Given the description of an element on the screen output the (x, y) to click on. 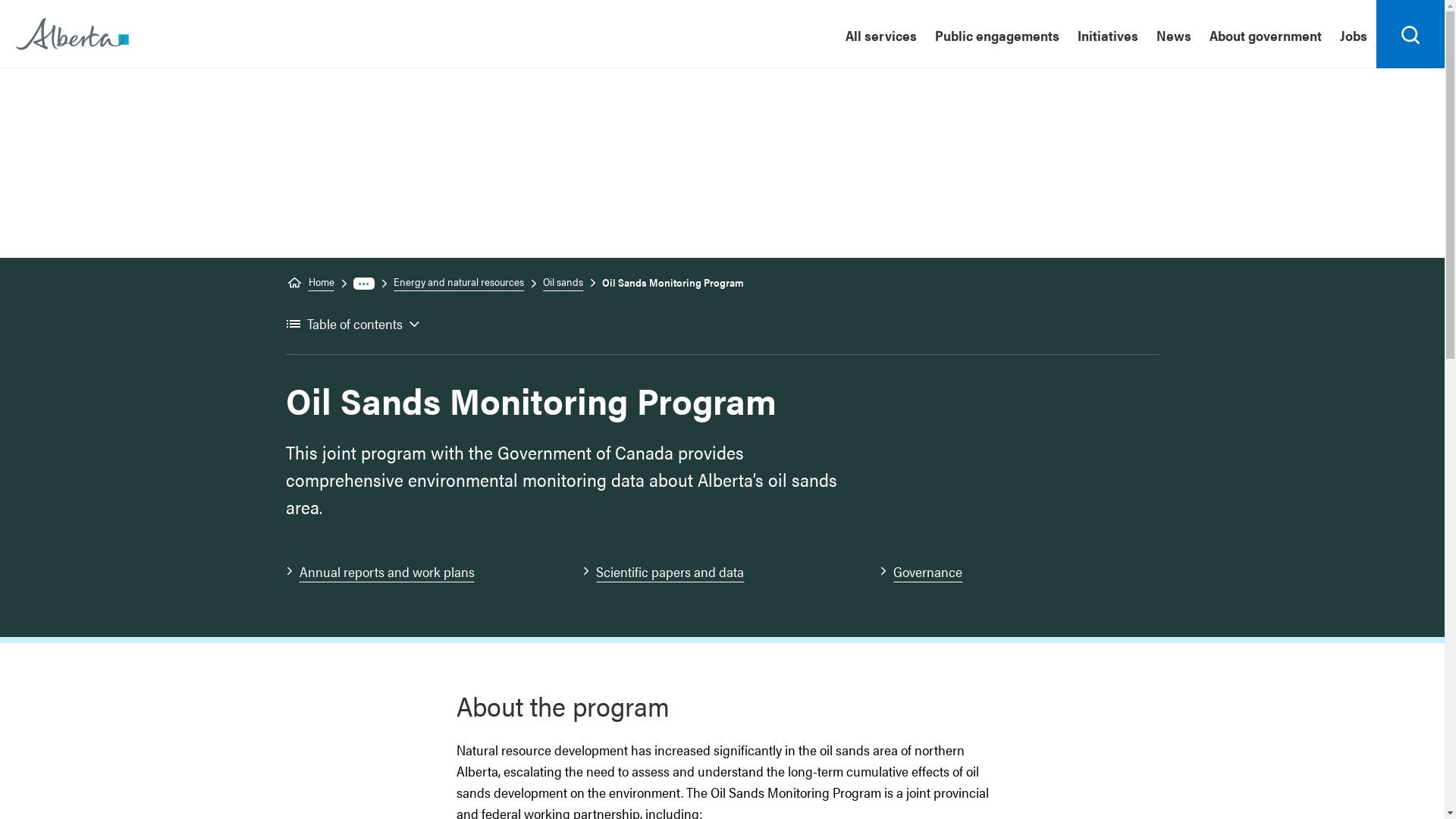
Home Element type: hover (72, 33)
Jobs Element type: text (1353, 34)
Energy and natural resources Element type: text (451, 281)
Initiatives Element type: text (1107, 34)
Table of contents Element type: text (352, 324)
Scientific papers and data Element type: text (712, 571)
About government Element type: text (1265, 34)
Oil sands Element type: text (556, 281)
Annual reports and work plans Element type: text (415, 571)
News Element type: text (1173, 34)
Governance Element type: text (1009, 571)
Search Element type: text (1410, 34)
Home Element type: text (309, 281)
All services Element type: text (880, 34)
Public engagements Element type: text (996, 34)
